Given the description of an element on the screen output the (x, y) to click on. 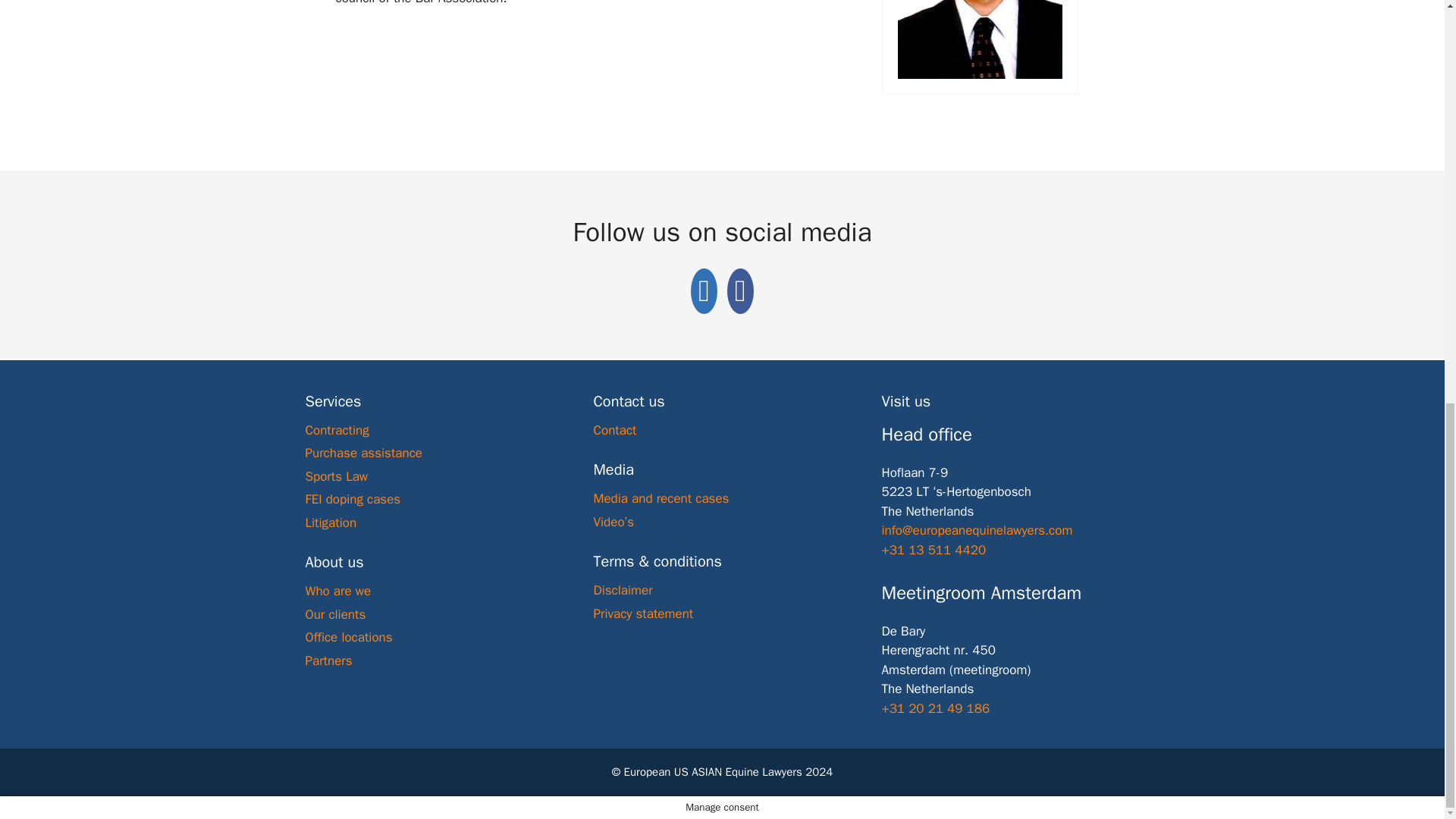
Contracting (336, 430)
Office locations (347, 637)
Scroll back to top (1406, 746)
FEI doping cases (352, 498)
Purchase assistance (363, 453)
Our clients (334, 614)
Litigation (330, 522)
Partners (328, 660)
Our clients (334, 614)
Sports Law (336, 476)
Who are we (337, 590)
